Given the description of an element on the screen output the (x, y) to click on. 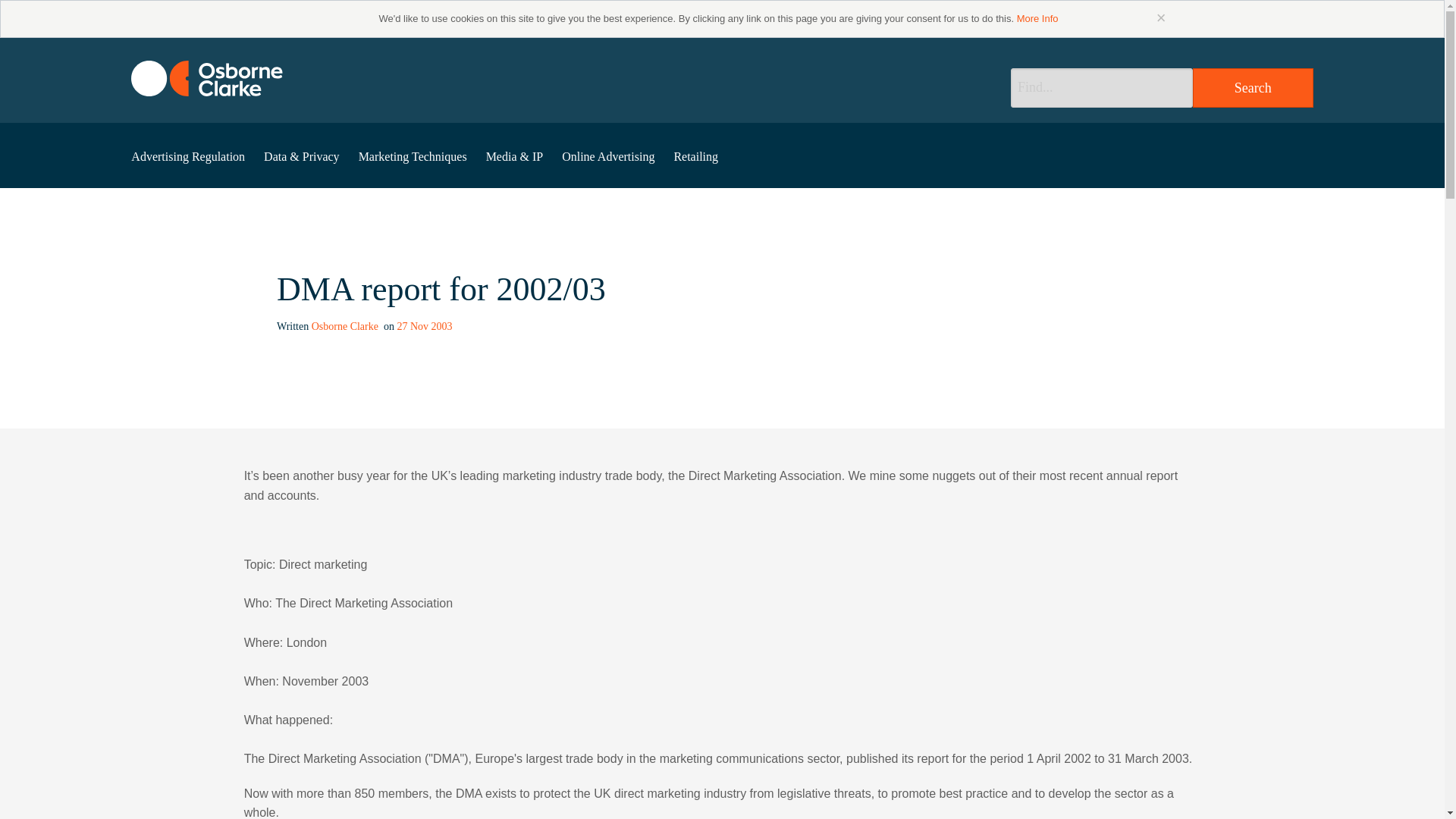
Search (1252, 87)
Retailing (695, 155)
'View all posts by Osborne Clarke (346, 326)
Online Advertising (608, 155)
27 Nov 2003 (423, 326)
More Info (1037, 18)
marketinglaw (206, 78)
Osborne Clarke (346, 326)
Advertising Regulation (188, 155)
Marketing Techniques (412, 155)
